Given the description of an element on the screen output the (x, y) to click on. 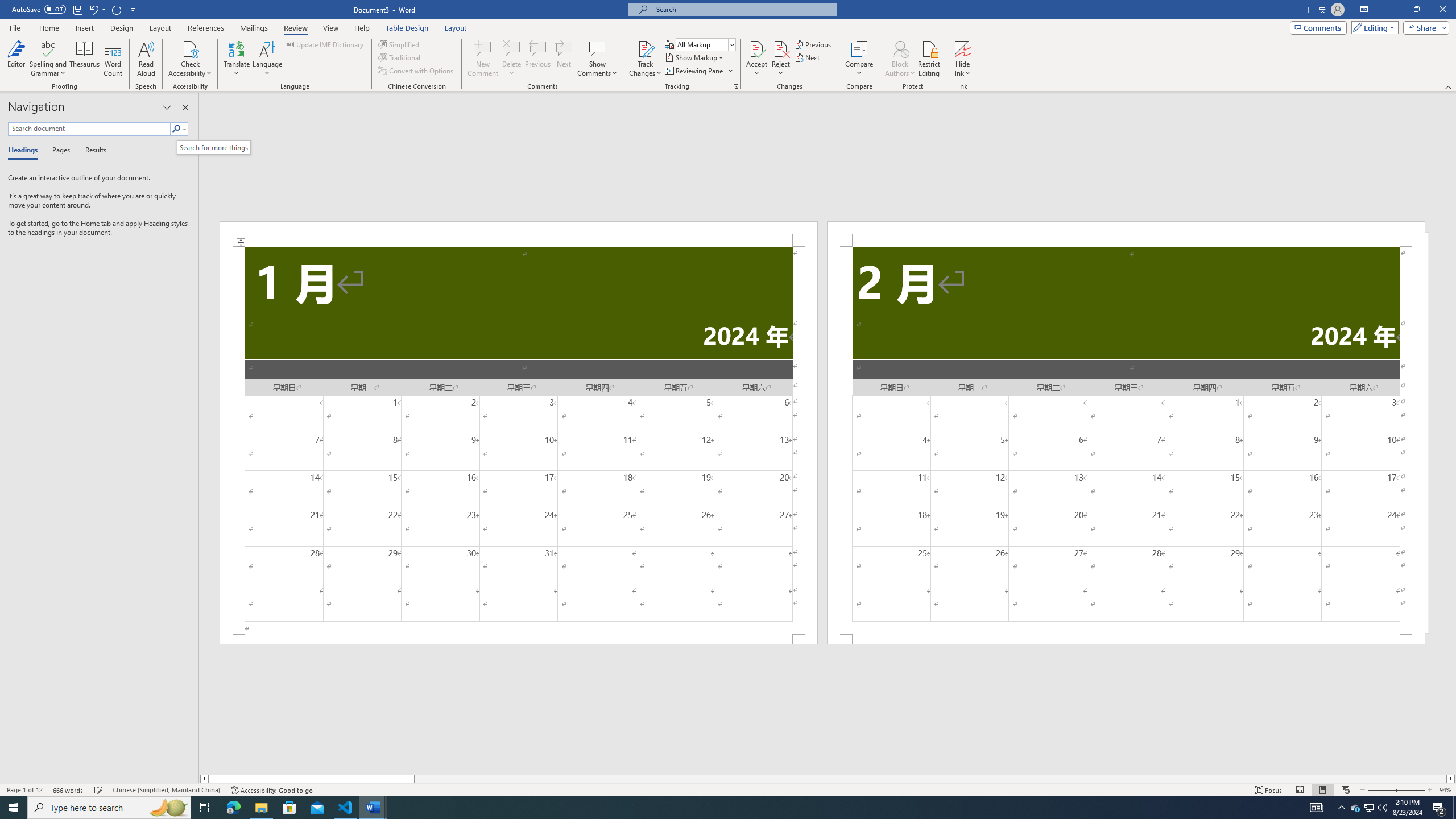
Reject and Move to Next (780, 48)
Track Changes (644, 58)
